Given the description of an element on the screen output the (x, y) to click on. 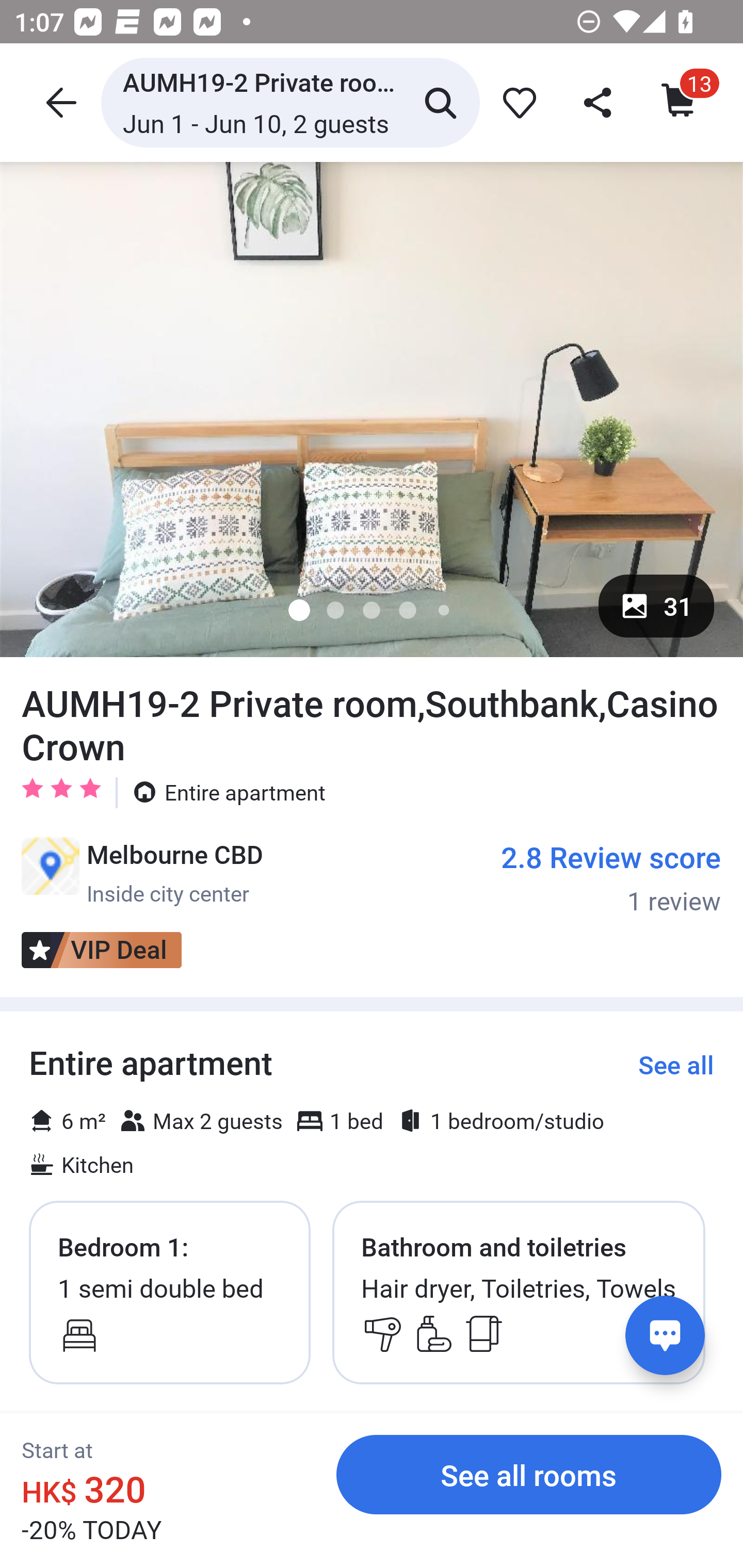
header icon (59, 102)
favorite_icon 0dbe6efb (515, 102)
share_header_icon (598, 102)
Cart icon cart_item_count 13 (679, 102)
image (371, 408)
31 (656, 605)
Melbourne CBD Inside city center (142, 872)
2.8 Review score 1 review (610, 877)
See all (676, 1064)
See all rooms (528, 1474)
